Given the description of an element on the screen output the (x, y) to click on. 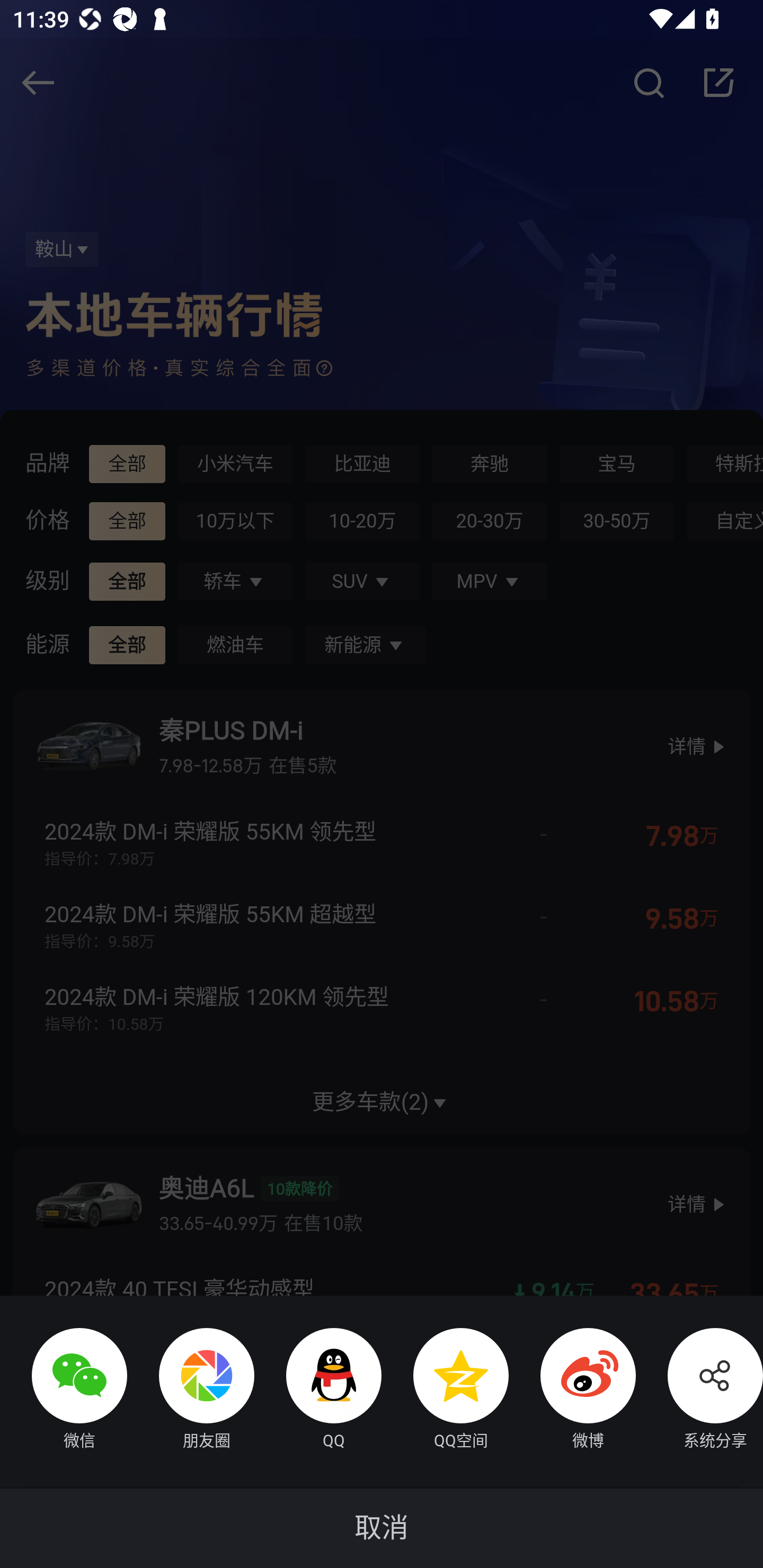
微信 (63, 1390)
朋友圈 (190, 1390)
QQ (317, 1390)
QQ空间 (444, 1390)
微博 (571, 1390)
系统分享 (699, 1390)
取消 (381, 1528)
